Given the description of an element on the screen output the (x, y) to click on. 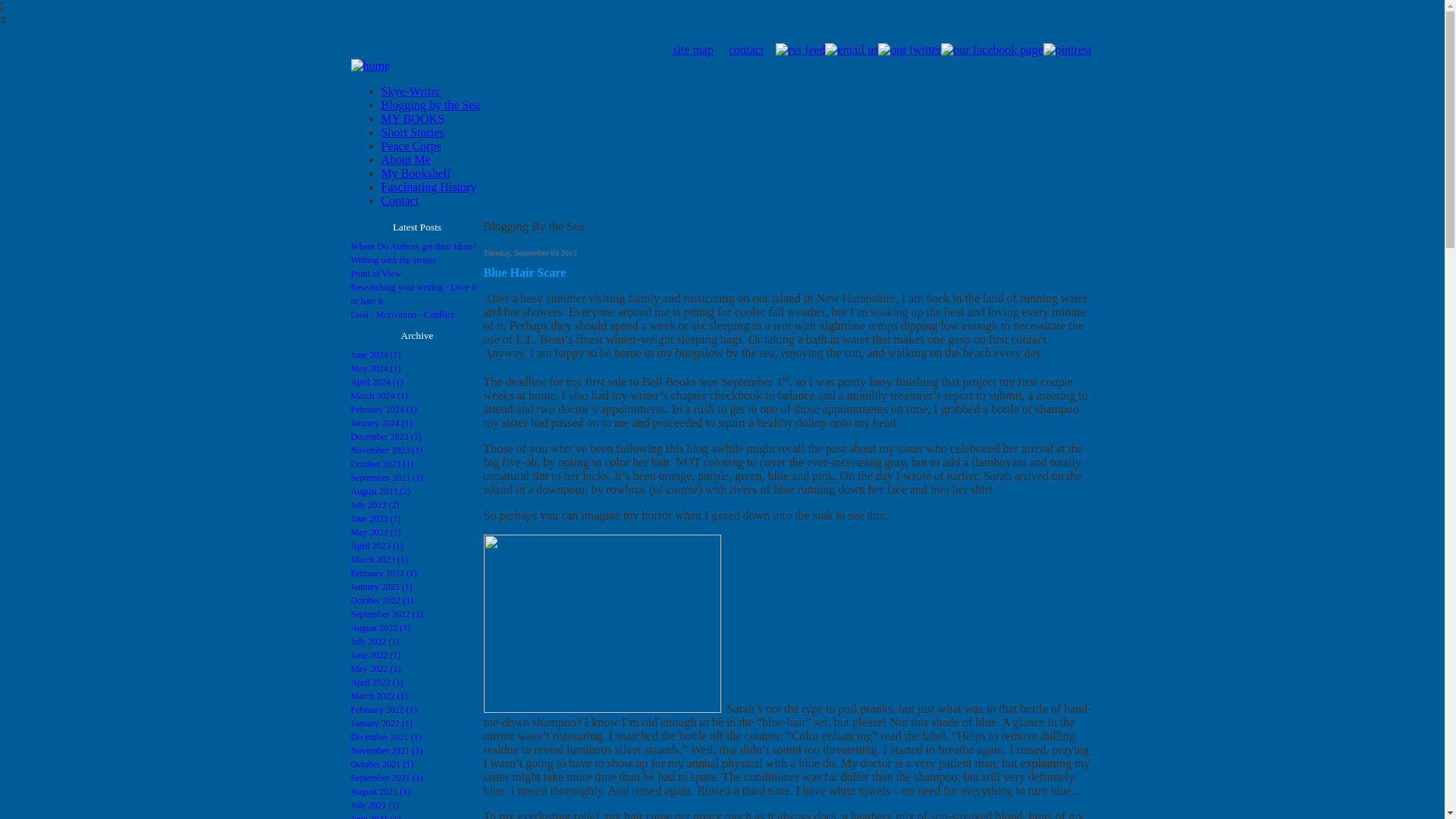
Goal - Motivation - Conflict (401, 314)
site map (692, 49)
Point of View (375, 273)
Short Stories (412, 132)
Researching your writing - Love it or hate it (413, 293)
MY BOOKS (412, 118)
Skye-Writer (409, 91)
Blogging by the Sea (429, 104)
Writing with the senses (392, 259)
Peace Corps (410, 145)
Contact (399, 200)
About Me (404, 159)
Where Do Authors get their ideas? (413, 245)
contact (745, 49)
My Bookshelf (414, 173)
